Given the description of an element on the screen output the (x, y) to click on. 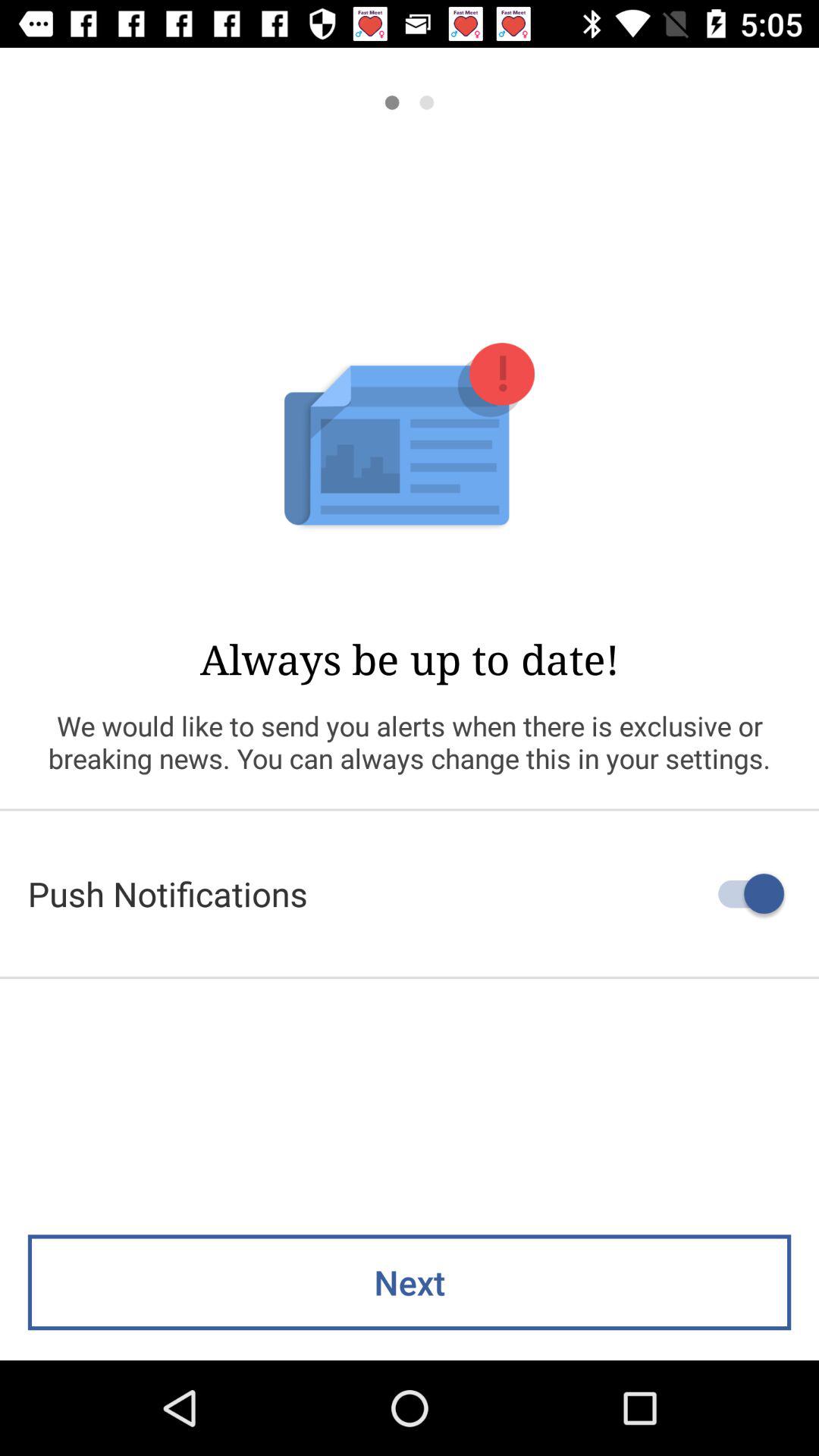
scroll until next item (409, 1282)
